Given the description of an element on the screen output the (x, y) to click on. 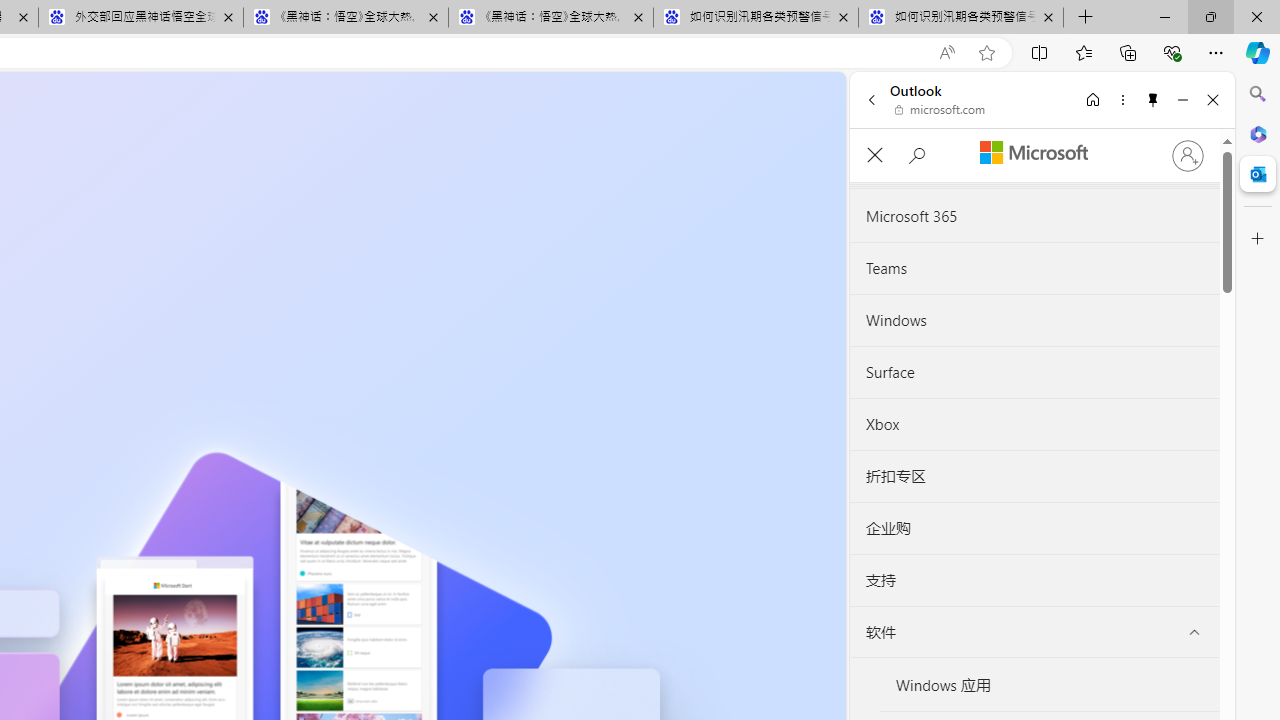
Xbox (1034, 424)
Xbox (1034, 424)
Surface (1034, 371)
Windows (1034, 321)
